Given the description of an element on the screen output the (x, y) to click on. 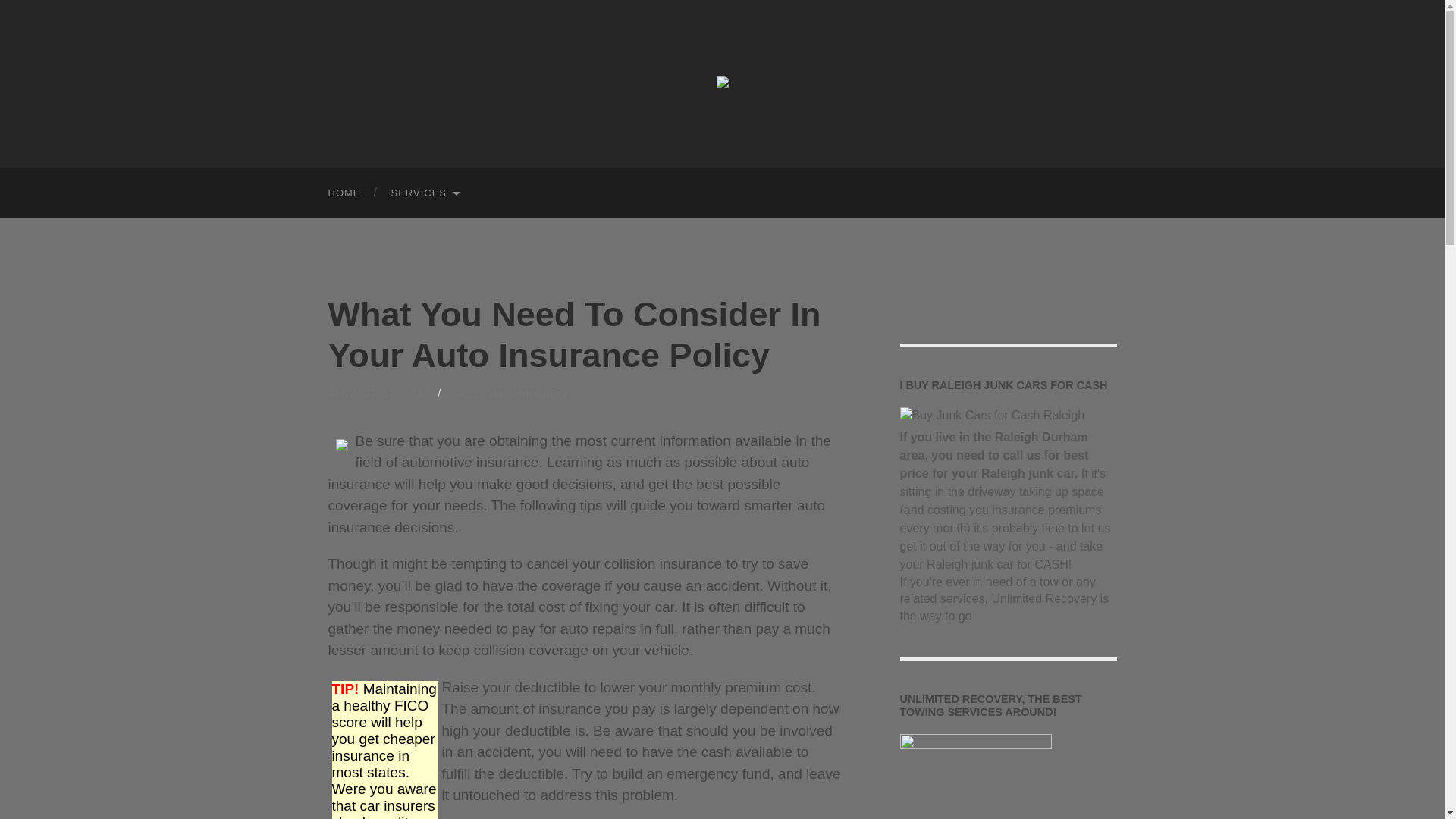
RALEIGHJUNKCARS (507, 393)
HOME (344, 192)
RaleighJunkCars.com (722, 81)
Posts by raleighjunkcars (507, 393)
AUGUST 27, 2012 (378, 393)
SERVICES (424, 192)
Buy Junk Cars for Cash Raleigh (991, 415)
